Given the description of an element on the screen output the (x, y) to click on. 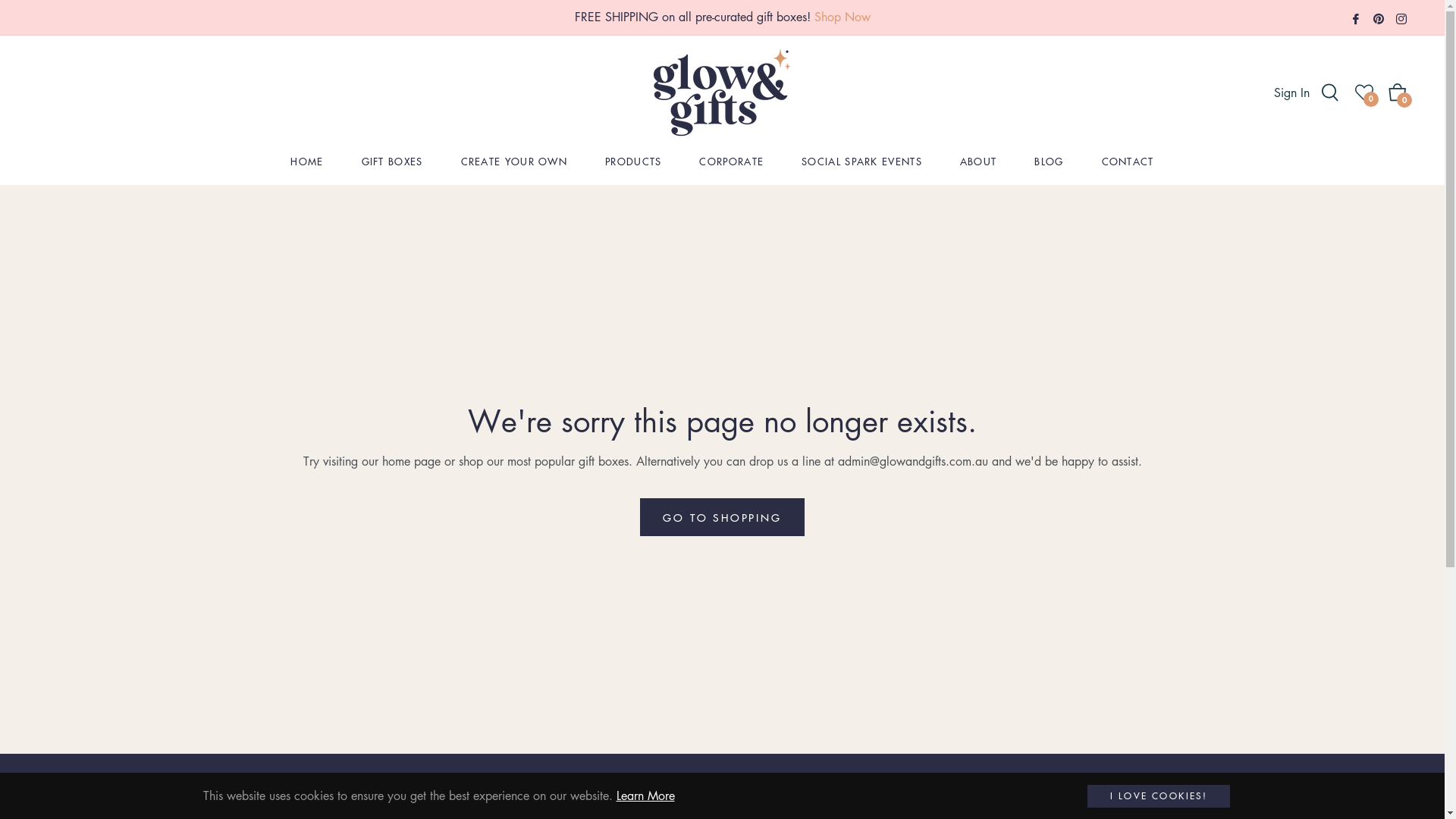
Sign In Element type: text (1293, 92)
Cart
0 Element type: text (1397, 92)
GO TO SHOPPING Element type: text (721, 517)
Glow and Gifts on Instagram Element type: hover (1401, 16)
CORPORATE Element type: text (731, 161)
Glow and Gifts on Pinterest Element type: hover (1378, 16)
BLOG Element type: text (1048, 161)
I LOVE COOKIES! Element type: text (1158, 795)
0 Element type: text (1363, 92)
ABOUT Element type: text (978, 161)
Glow and Gifts on Facebook Element type: hover (1355, 16)
Learn More Element type: text (644, 795)
HOME Element type: text (306, 161)
CREATE YOUR OWN Element type: text (514, 161)
SOCIAL SPARK EVENTS Element type: text (861, 161)
Shop Now Element type: text (842, 16)
CONTACT Element type: text (1127, 161)
GIFT BOXES Element type: text (392, 161)
PRODUCTS Element type: text (633, 161)
